Given the description of an element on the screen output the (x, y) to click on. 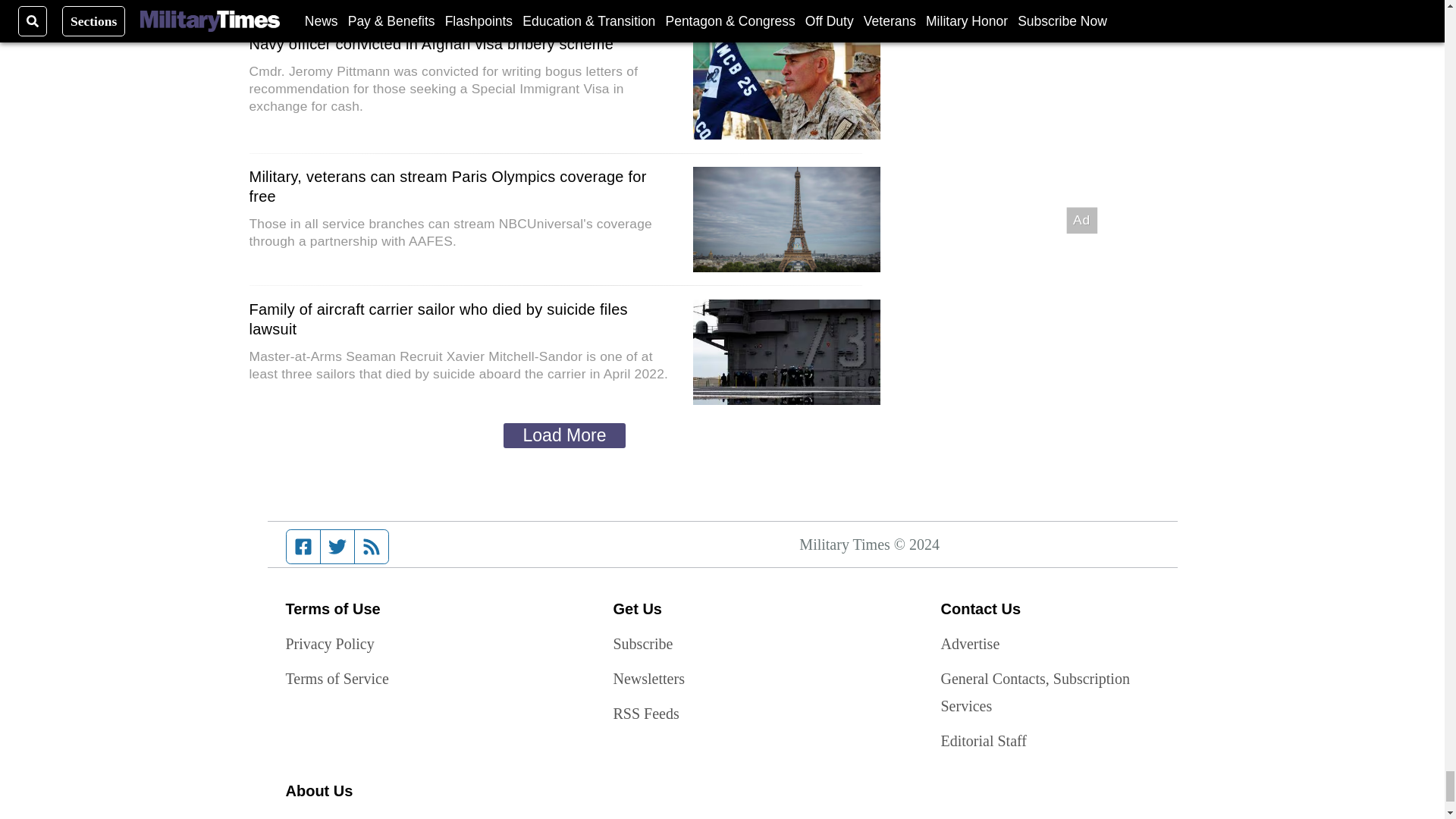
RSS feed (371, 546)
Facebook page (303, 546)
Twitter feed (336, 546)
